Given the description of an element on the screen output the (x, y) to click on. 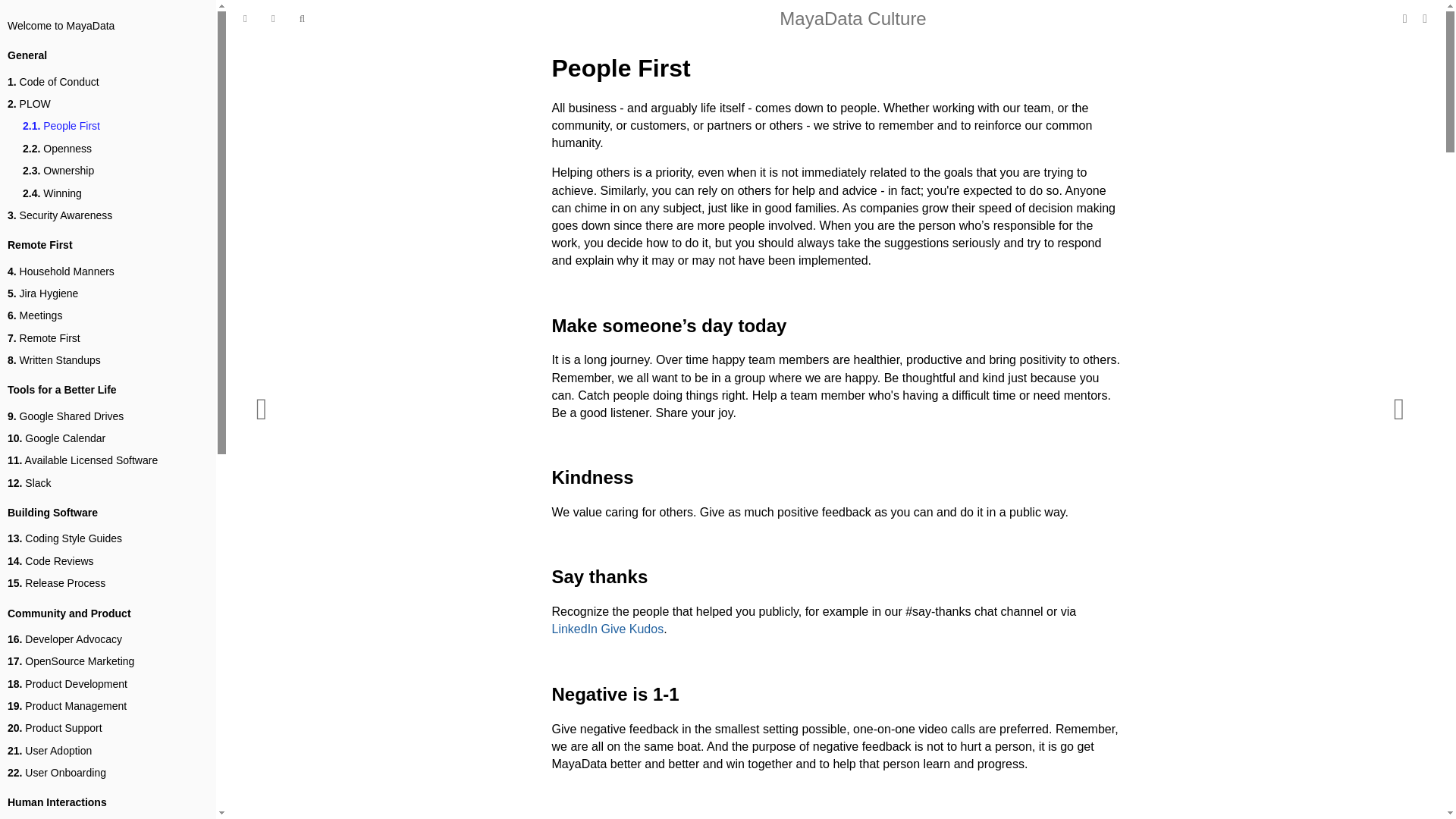
9. Google Shared Drives (65, 416)
8. Written Standups (53, 360)
2.2. Openness (57, 148)
16. Developer Advocacy (64, 639)
15. Release Process (55, 583)
17. OpenSource Marketing (70, 661)
19. Product Management (66, 706)
5. Jira Hygiene (42, 293)
3. Security Awareness (59, 215)
12. Slack (28, 483)
